Given the description of an element on the screen output the (x, y) to click on. 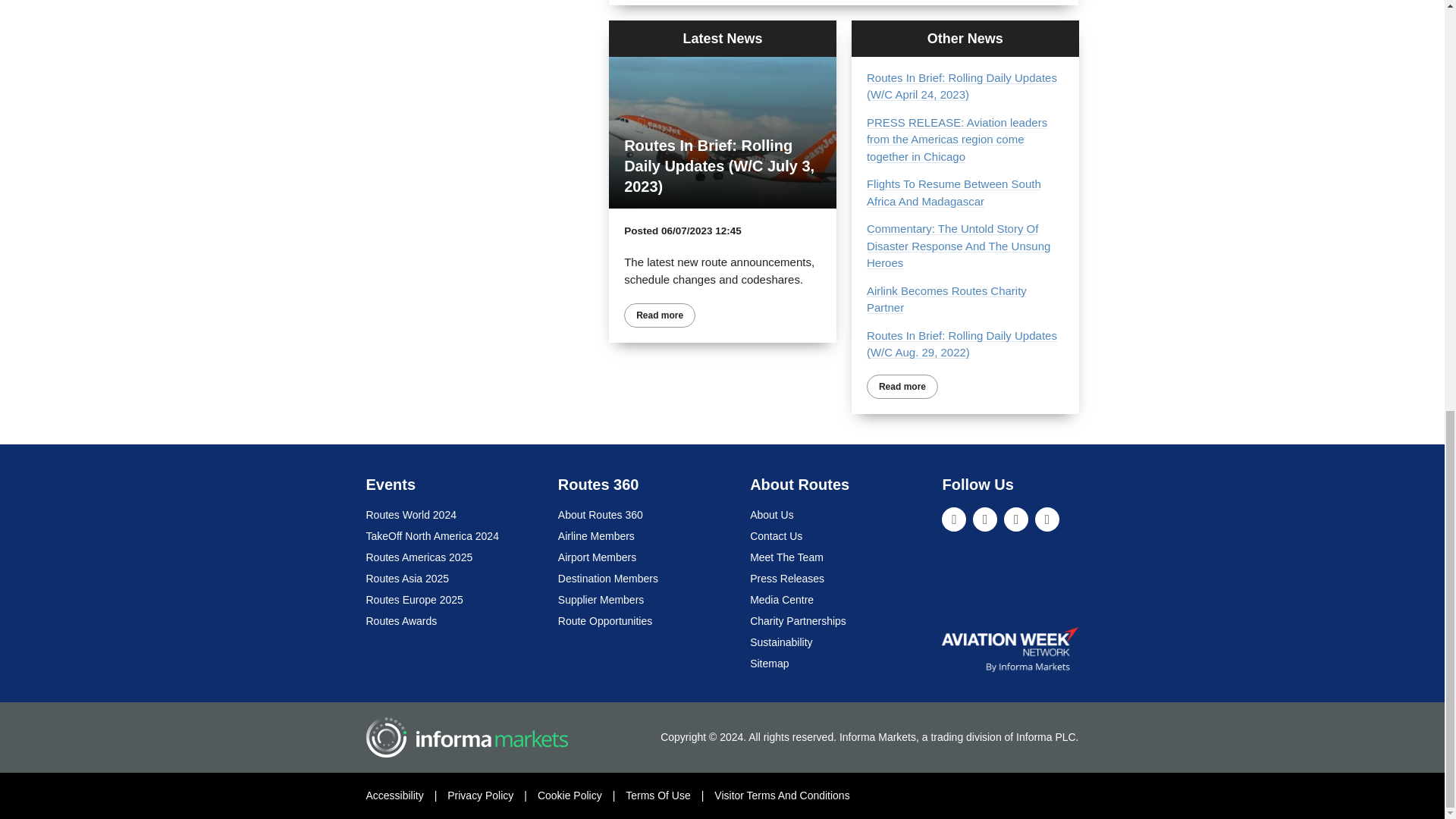
YouTube (1047, 518)
LinkedIn (954, 518)
Facebook (1015, 518)
